Given the description of an element on the screen output the (x, y) to click on. 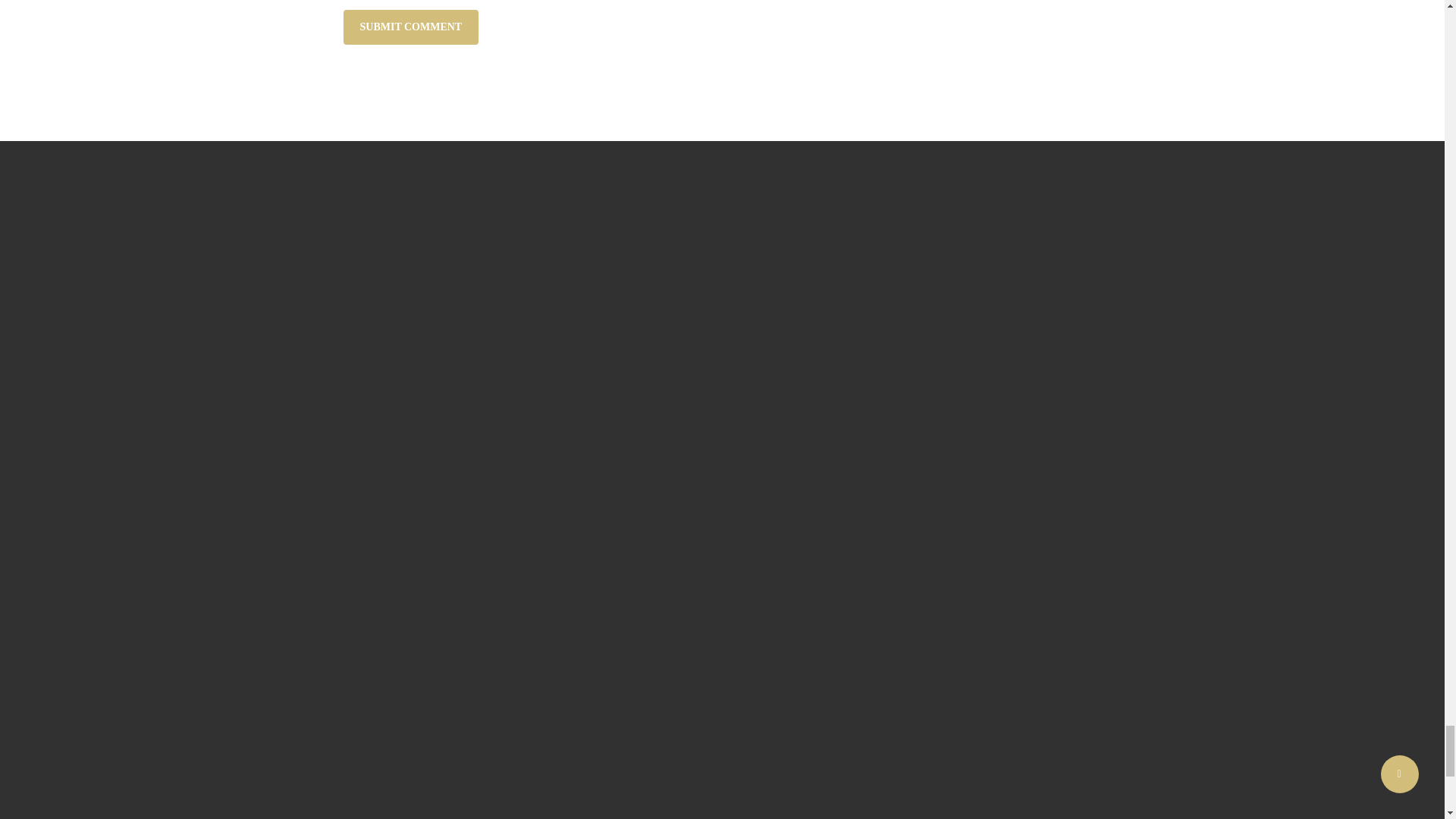
Submit Comment (410, 27)
